Given the description of an element on the screen output the (x, y) to click on. 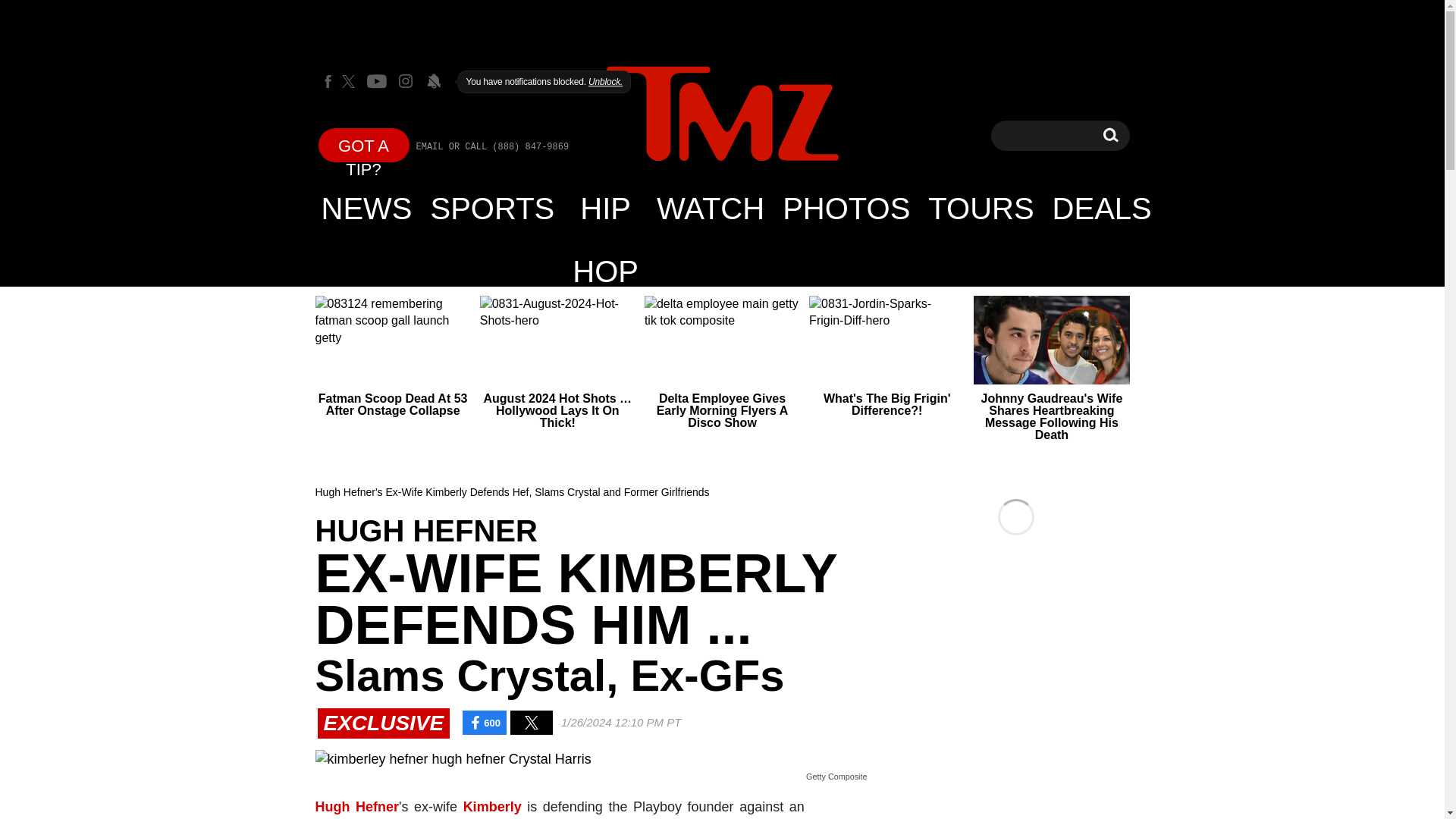
HIP HOP (605, 207)
PHOTOS (845, 207)
TMZ (722, 113)
DEALS (1101, 207)
SPORTS (493, 207)
Search (1110, 134)
TOURS (980, 207)
Skip to main content (1110, 135)
